Given the description of an element on the screen output the (x, y) to click on. 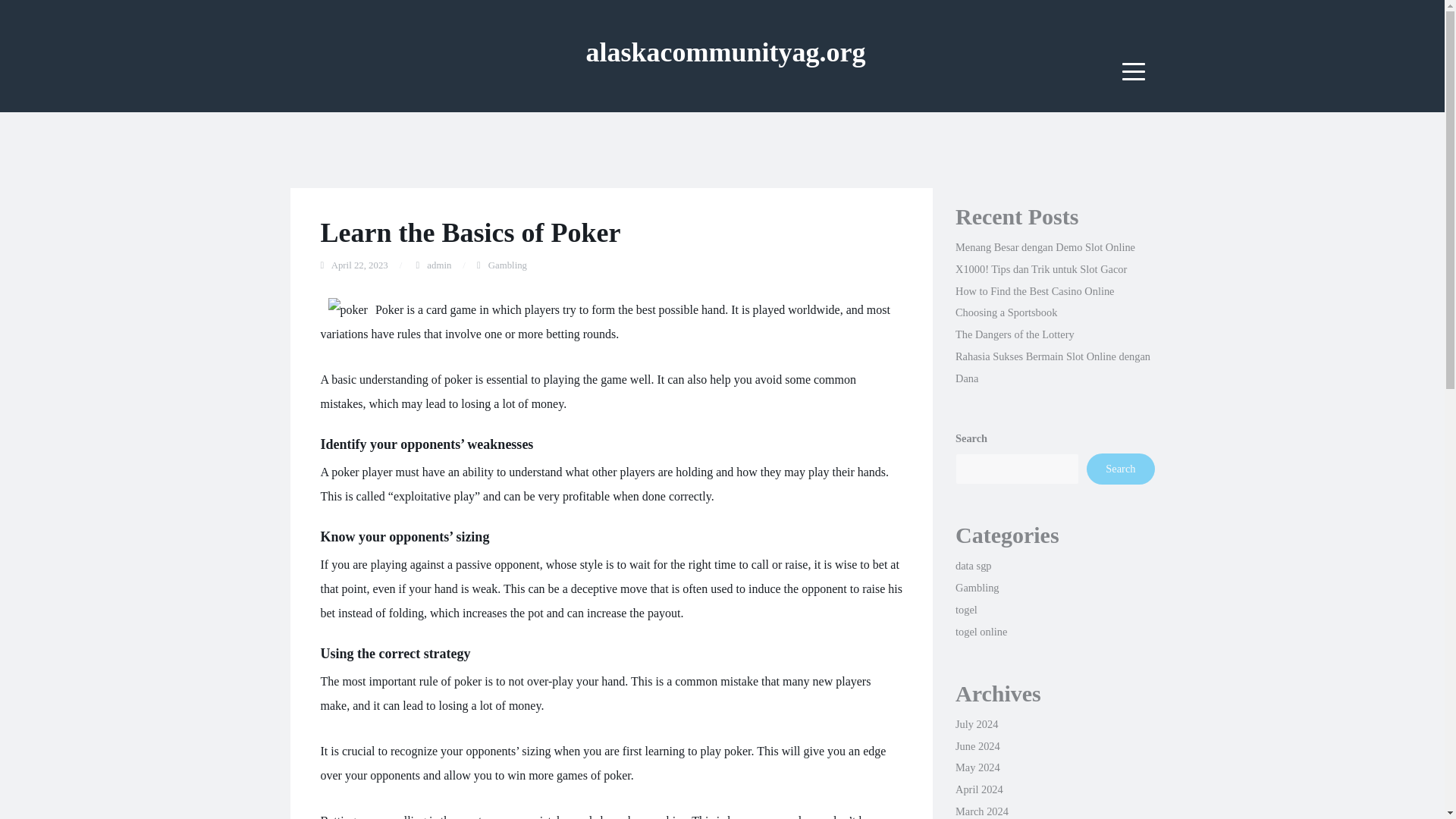
April 22, 2023 (359, 265)
admin (438, 265)
Rahasia Sukses Bermain Slot Online dengan Dana (1052, 367)
April 2024 (979, 788)
June 2024 (977, 746)
togel online (981, 631)
togel (965, 609)
Gambling (976, 587)
Search (1120, 469)
How to Find the Best Casino Online (1034, 291)
May 2024 (977, 767)
March 2024 (982, 811)
data sgp (973, 565)
Gambling (507, 265)
Choosing a Sportsbook (1006, 312)
